Given the description of an element on the screen output the (x, y) to click on. 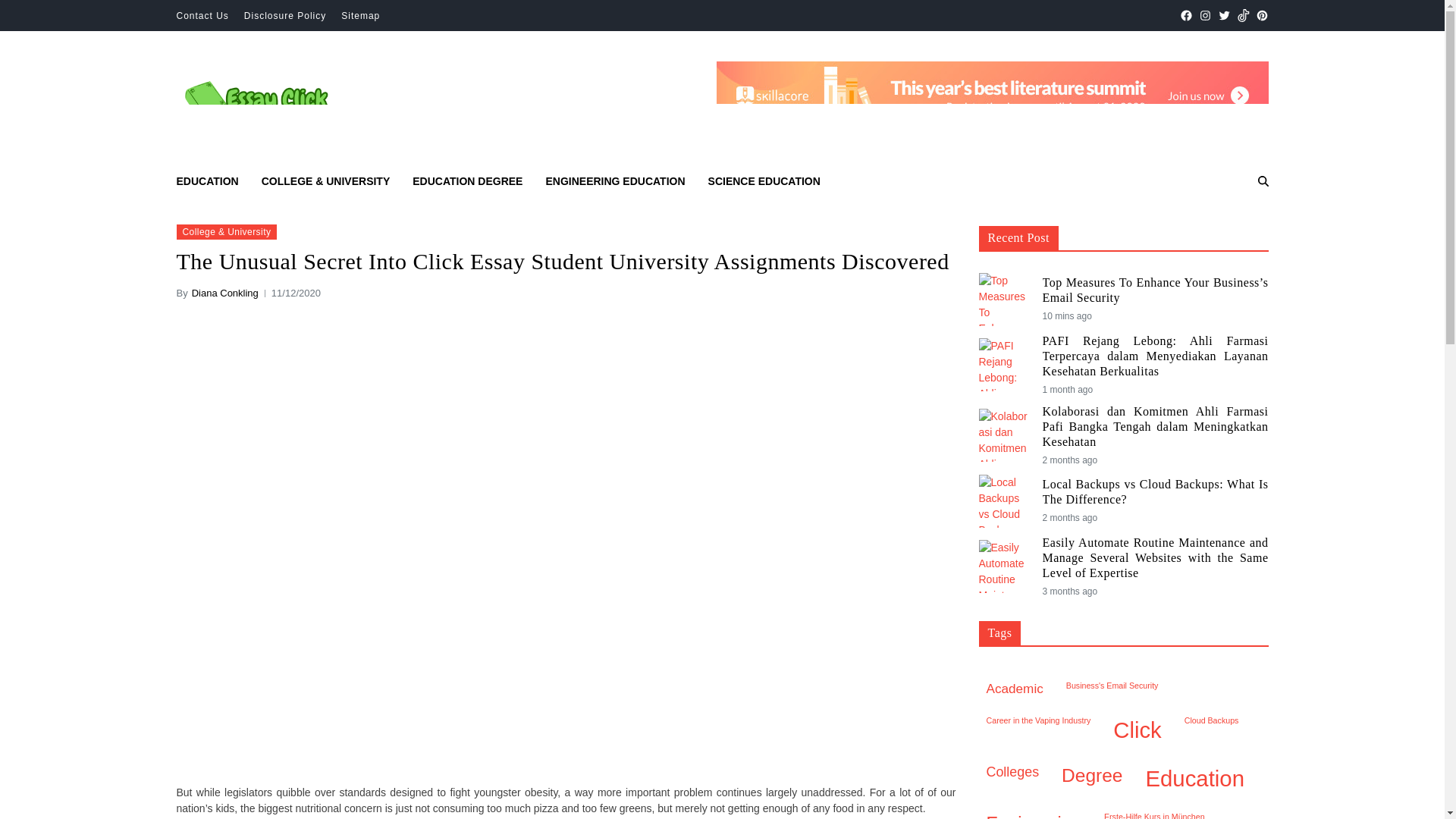
Local Backups vs Cloud Backups: What Is The Difference? (1155, 491)
Contact Us (202, 15)
Disclosure Policy (285, 15)
ENGINEERING EDUCATION (614, 181)
EDUCATION (207, 181)
SCIENCE EDUCATION (764, 181)
Top Measures To Enhance Your Business's Email Security 3 (1004, 298)
Career in the Vaping Industry (1037, 730)
academic (1013, 688)
Diana Conkling (225, 293)
